Given the description of an element on the screen output the (x, y) to click on. 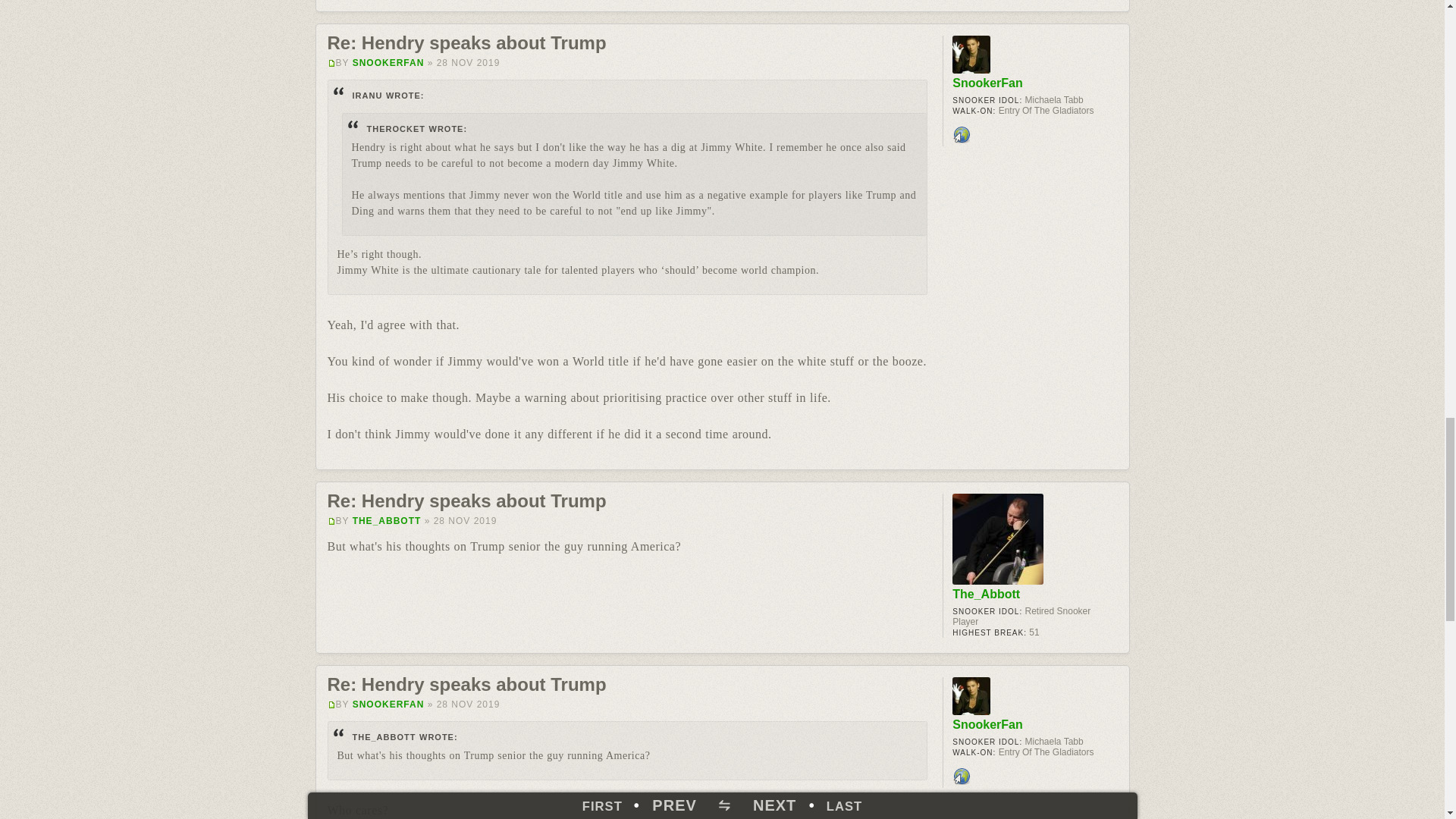
Post (331, 520)
Post (331, 62)
